Given the description of an element on the screen output the (x, y) to click on. 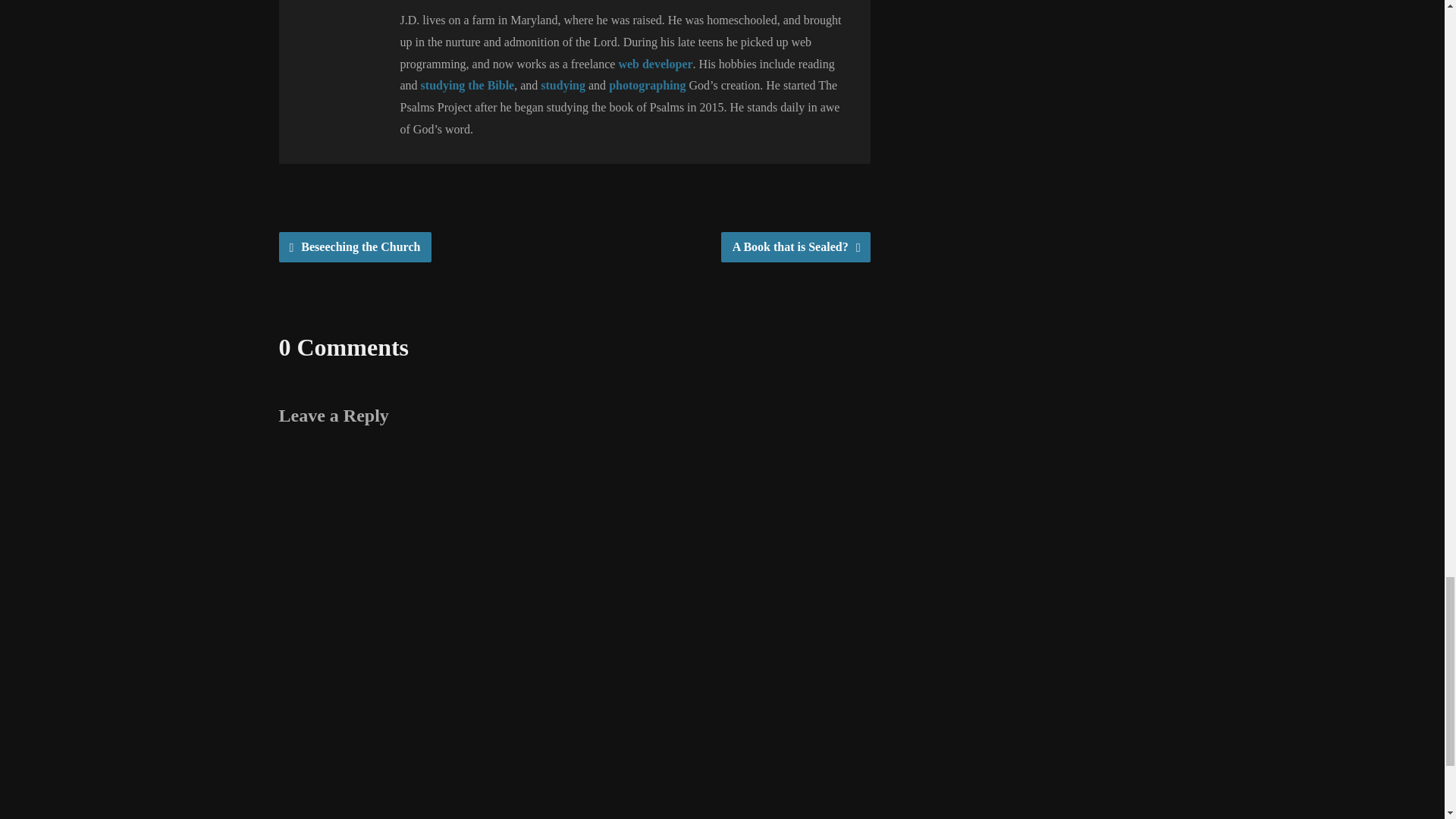
Beseeching the Church (355, 246)
photographing (646, 84)
web developer (655, 63)
studying (562, 84)
studying the Bible (467, 84)
A Book that is Sealed? (795, 246)
